Given the description of an element on the screen output the (x, y) to click on. 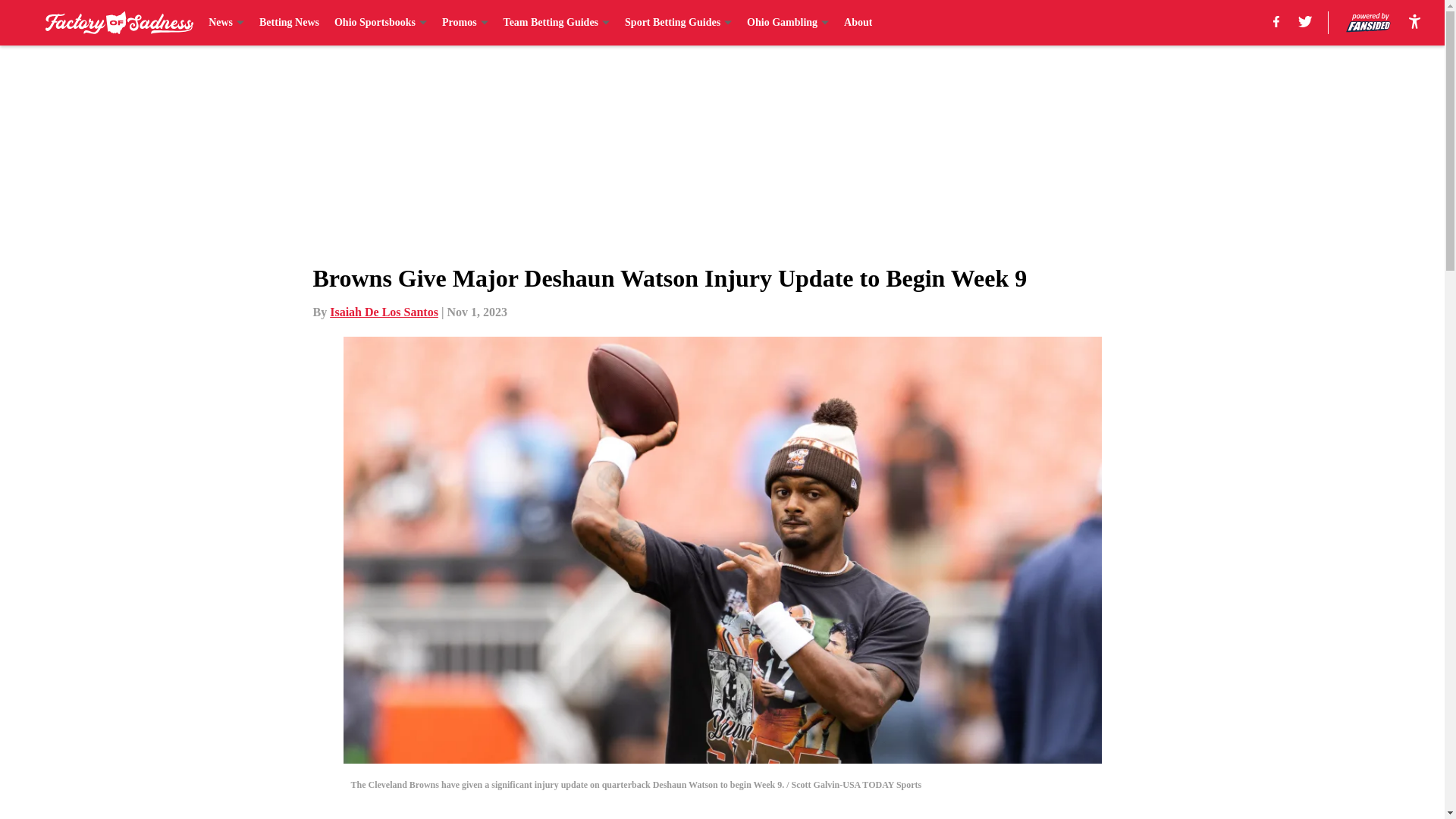
Isaiah De Los Santos (384, 311)
Betting News (288, 22)
About (858, 22)
